Given the description of an element on the screen output the (x, y) to click on. 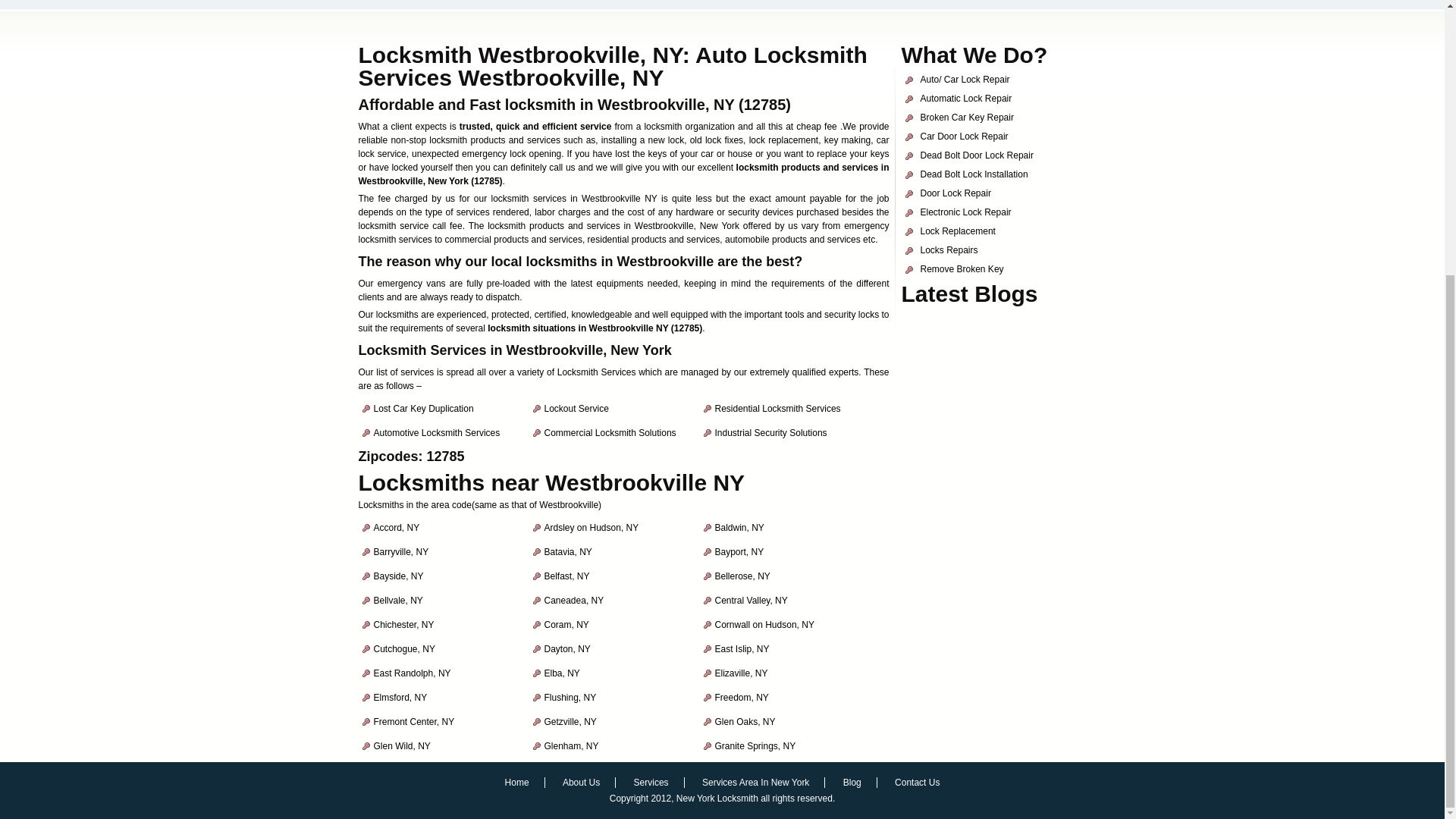
Elmsford, NY (399, 697)
Accord, NY (395, 527)
Dayton, NY (567, 648)
Batavia, NY (568, 552)
Chichester, NY (402, 624)
Flushing, NY (570, 697)
Bayside, NY (397, 575)
Glenham, NY (571, 746)
Freedom, NY (741, 697)
Central Valley, NY (750, 600)
Elizaville, NY (740, 673)
